Given the description of an element on the screen output the (x, y) to click on. 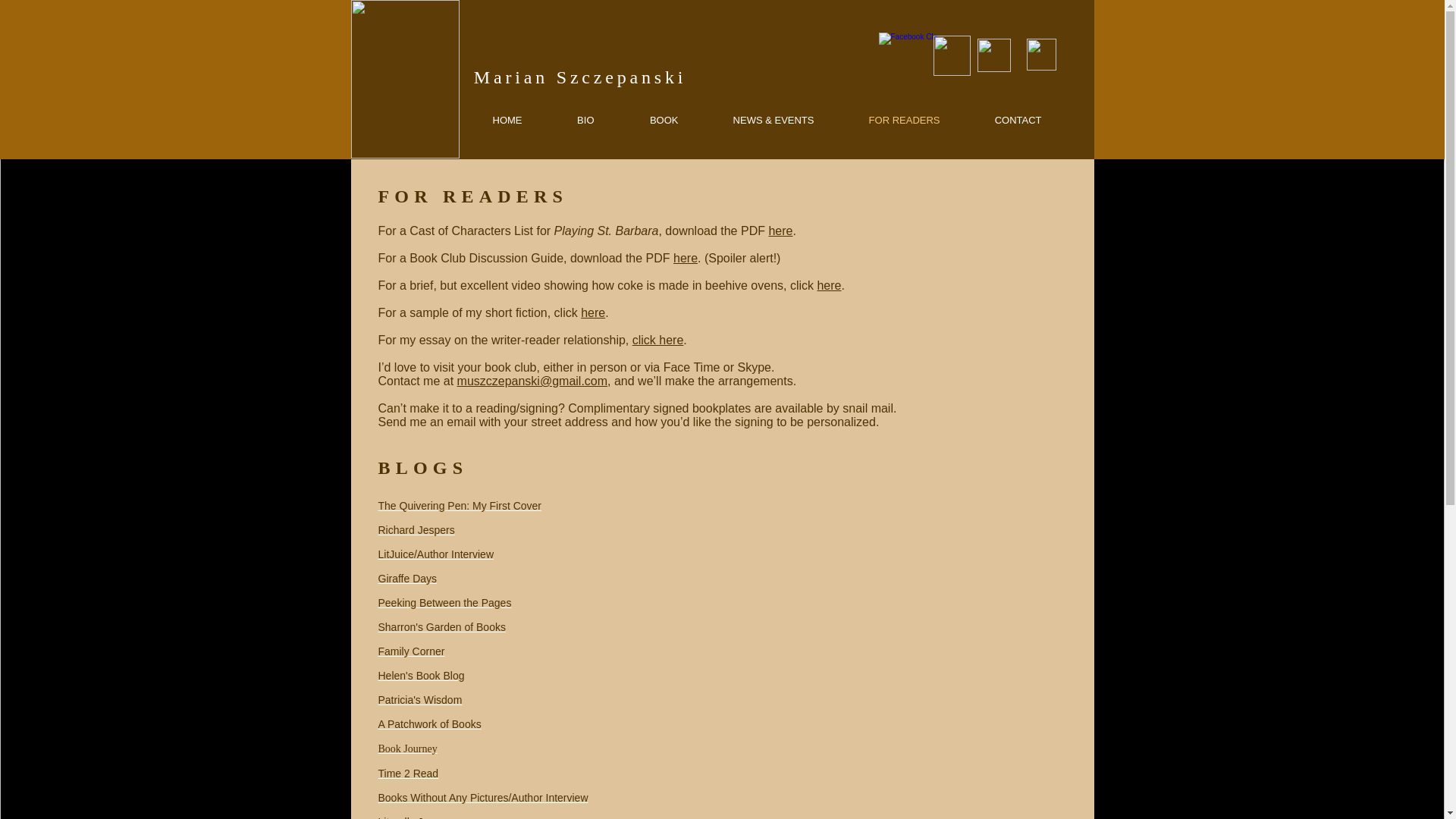
Family Corner (410, 651)
here (592, 312)
Book Journey (406, 748)
Literally Jen (405, 817)
here (780, 230)
Giraffe Days (406, 578)
Helen's Book Blog (420, 675)
goodreads-logo1.png (993, 55)
Time 2 Read (407, 773)
HOME (488, 119)
